Given the description of an element on the screen output the (x, y) to click on. 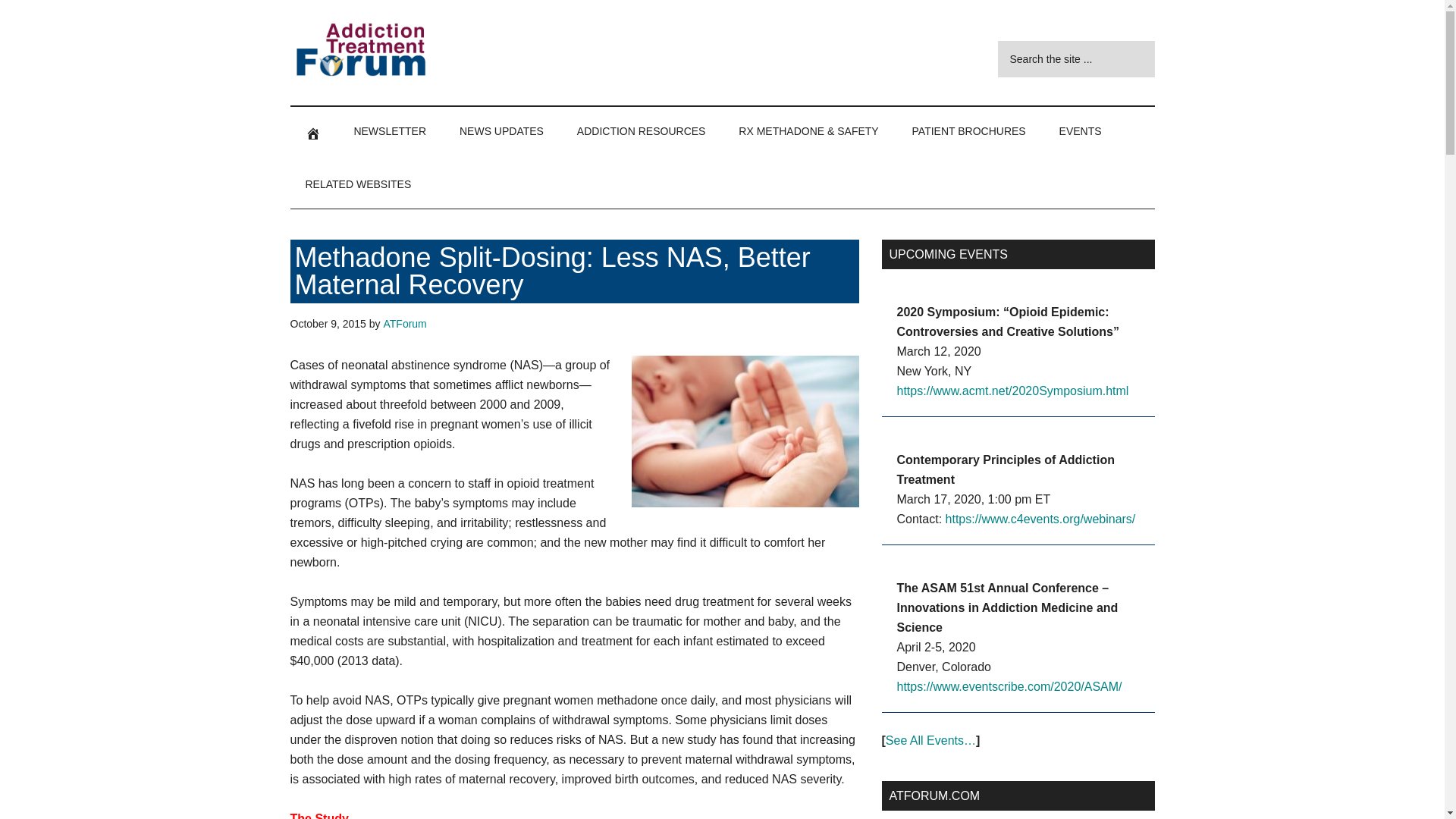
NEWSLETTER (389, 131)
PATIENT BROCHURES (968, 131)
ATForum (404, 323)
RELATED WEBSITES (357, 183)
NEWS UPDATES (501, 131)
ADDICTION RESOURCES (641, 131)
EVENTS (1079, 131)
